Given the description of an element on the screen output the (x, y) to click on. 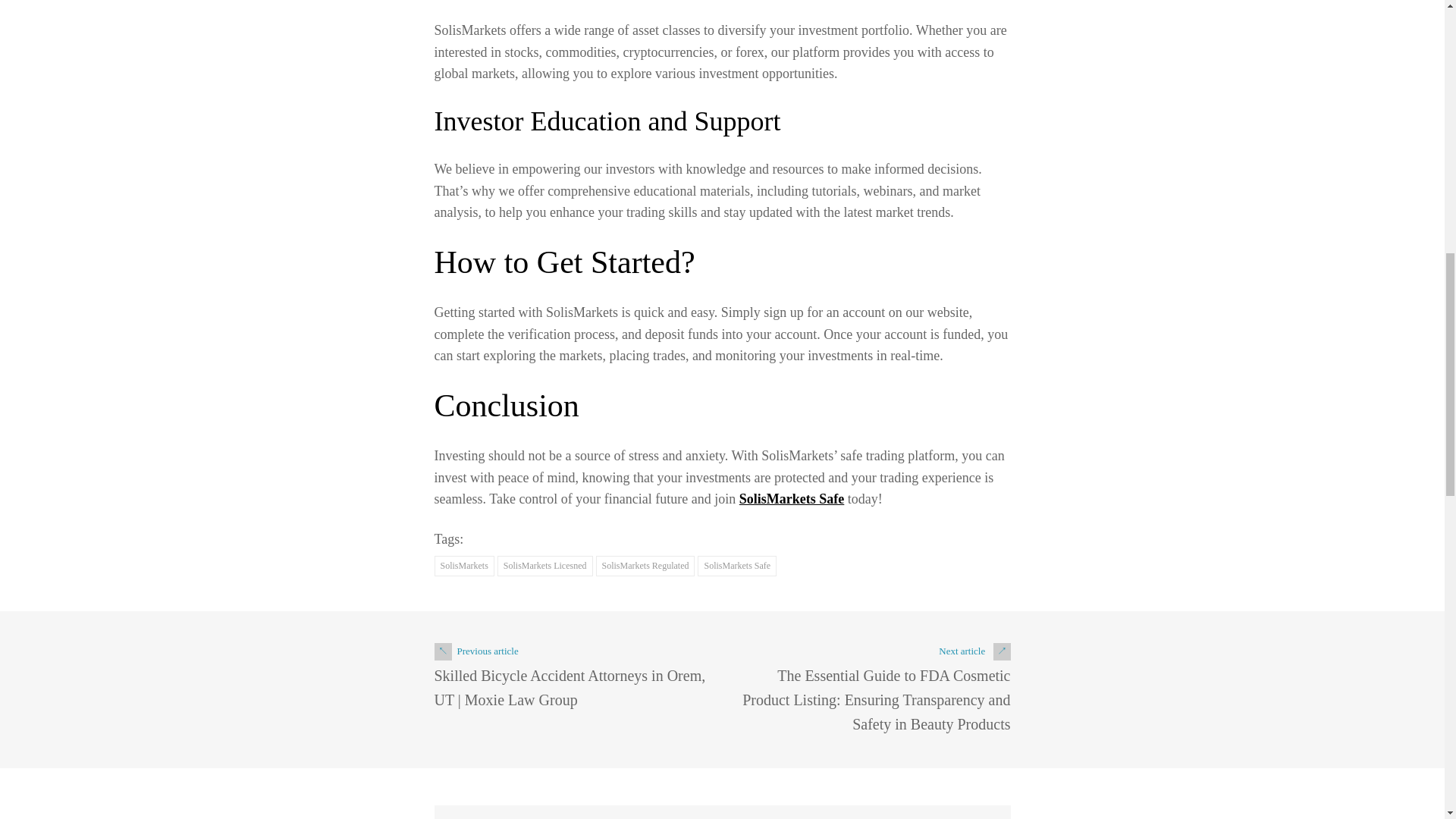
SolisMarkets Safe (736, 566)
SolisMarkets Regulated (645, 566)
SolisMarkets Safe (791, 498)
SolisMarkets (463, 566)
SolisMarkets Licesned (544, 566)
